Given the description of an element on the screen output the (x, y) to click on. 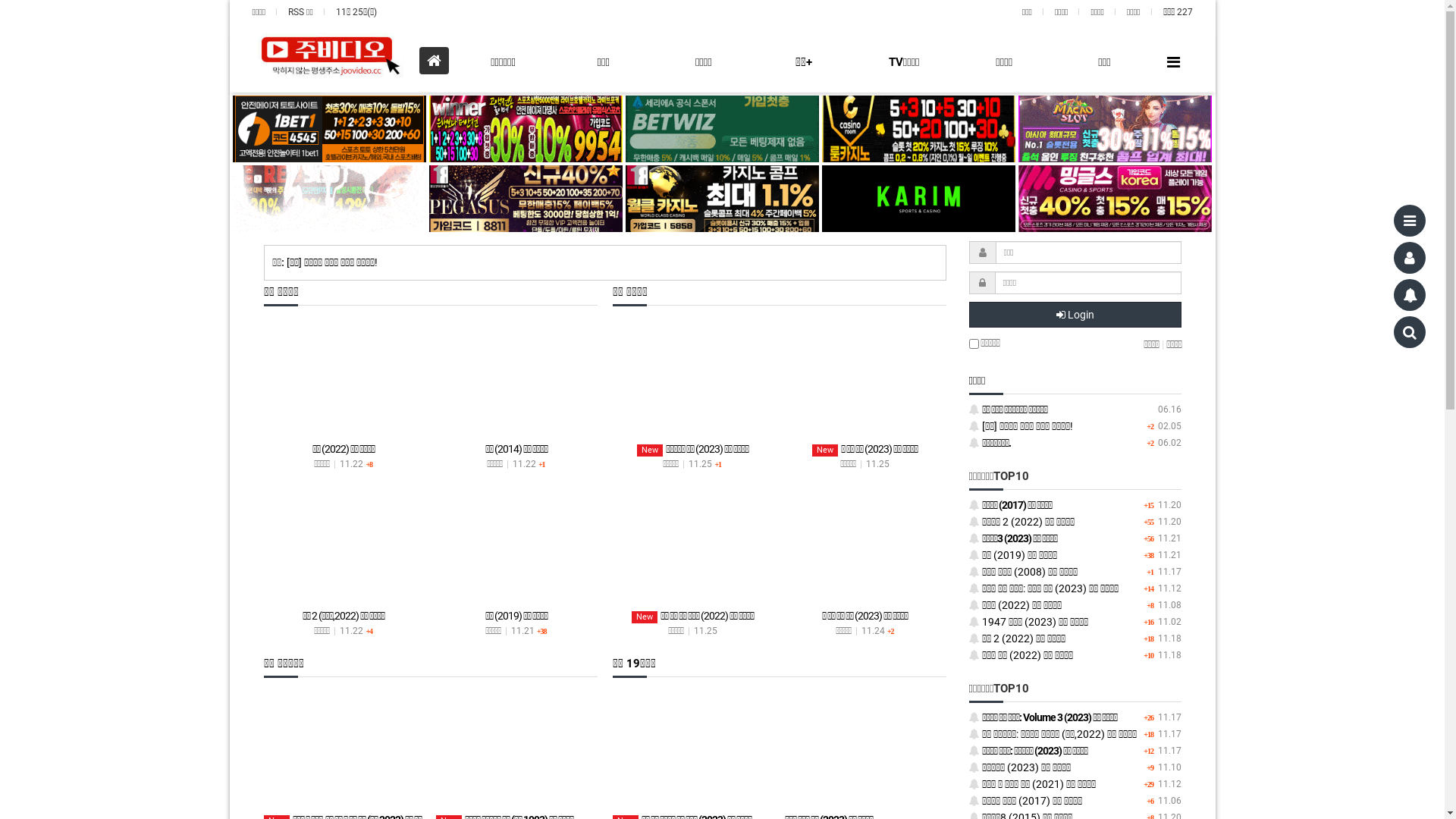
  Element type: text (918, 128)
  Element type: text (1114, 128)
  Element type: text (722, 198)
  Element type: text (722, 128)
  Element type: text (525, 198)
  Element type: text (328, 128)
  Element type: text (525, 128)
  Element type: text (328, 198)
  Element type: text (1114, 198)
  Element type: text (918, 198)
Login Element type: text (1075, 314)
